Given the description of an element on the screen output the (x, y) to click on. 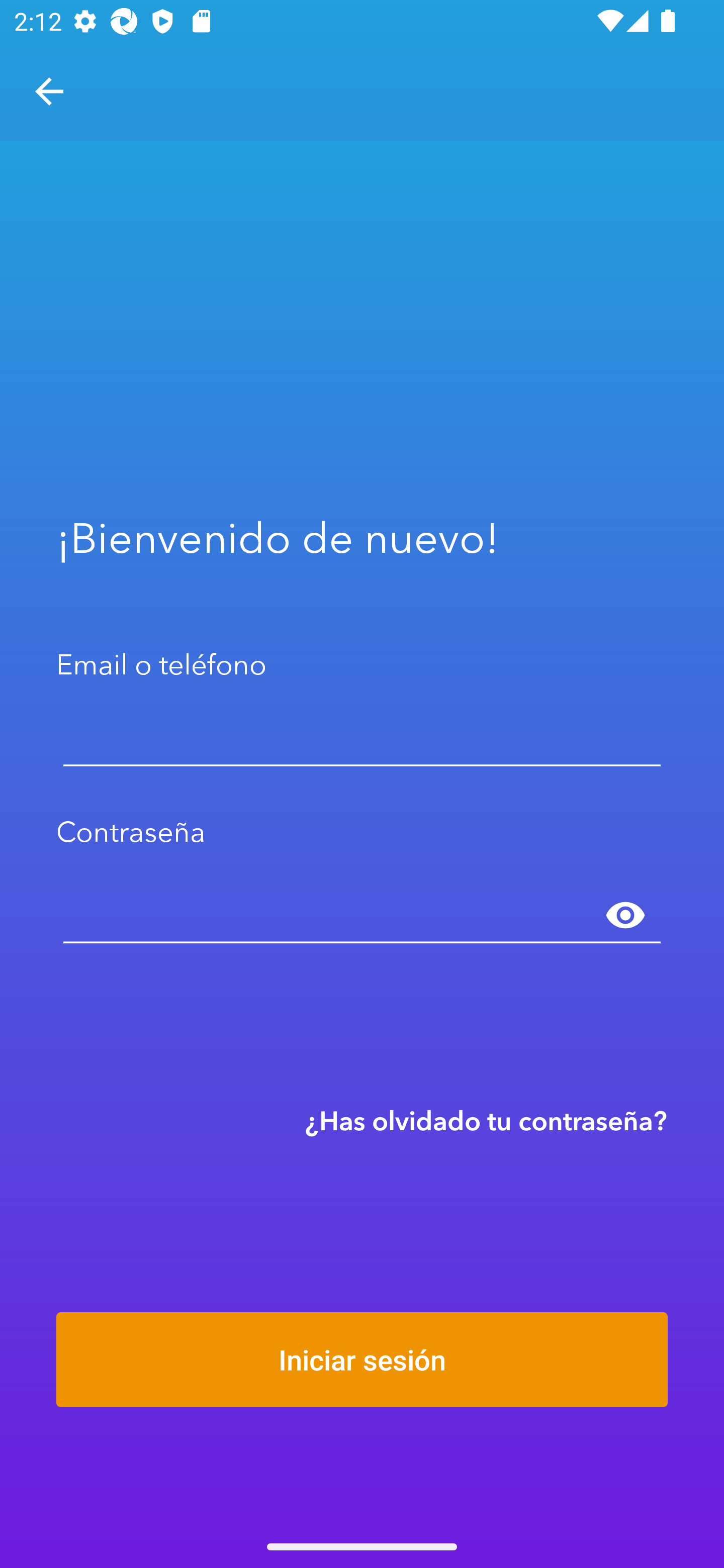
Navegar hacia arriba (49, 91)
Mostrar contraseña (625, 915)
¿Has olvidado tu contraseña? (486, 1119)
Iniciar sesión (361, 1359)
